Given the description of an element on the screen output the (x, y) to click on. 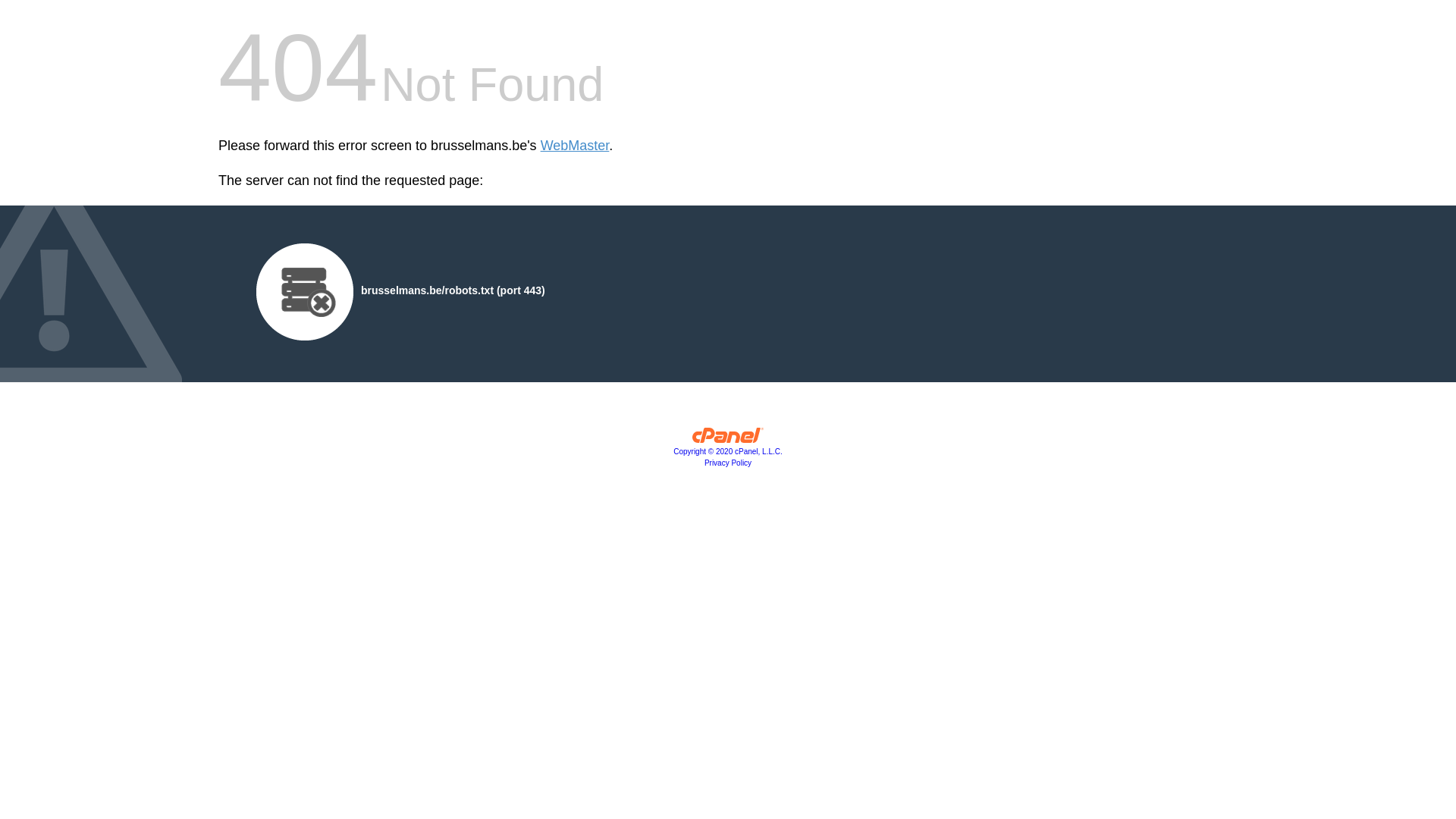
WebMaster Element type: text (574, 145)
Privacy Policy Element type: text (727, 462)
cPanel, Inc. Element type: hover (728, 439)
